Given the description of an element on the screen output the (x, y) to click on. 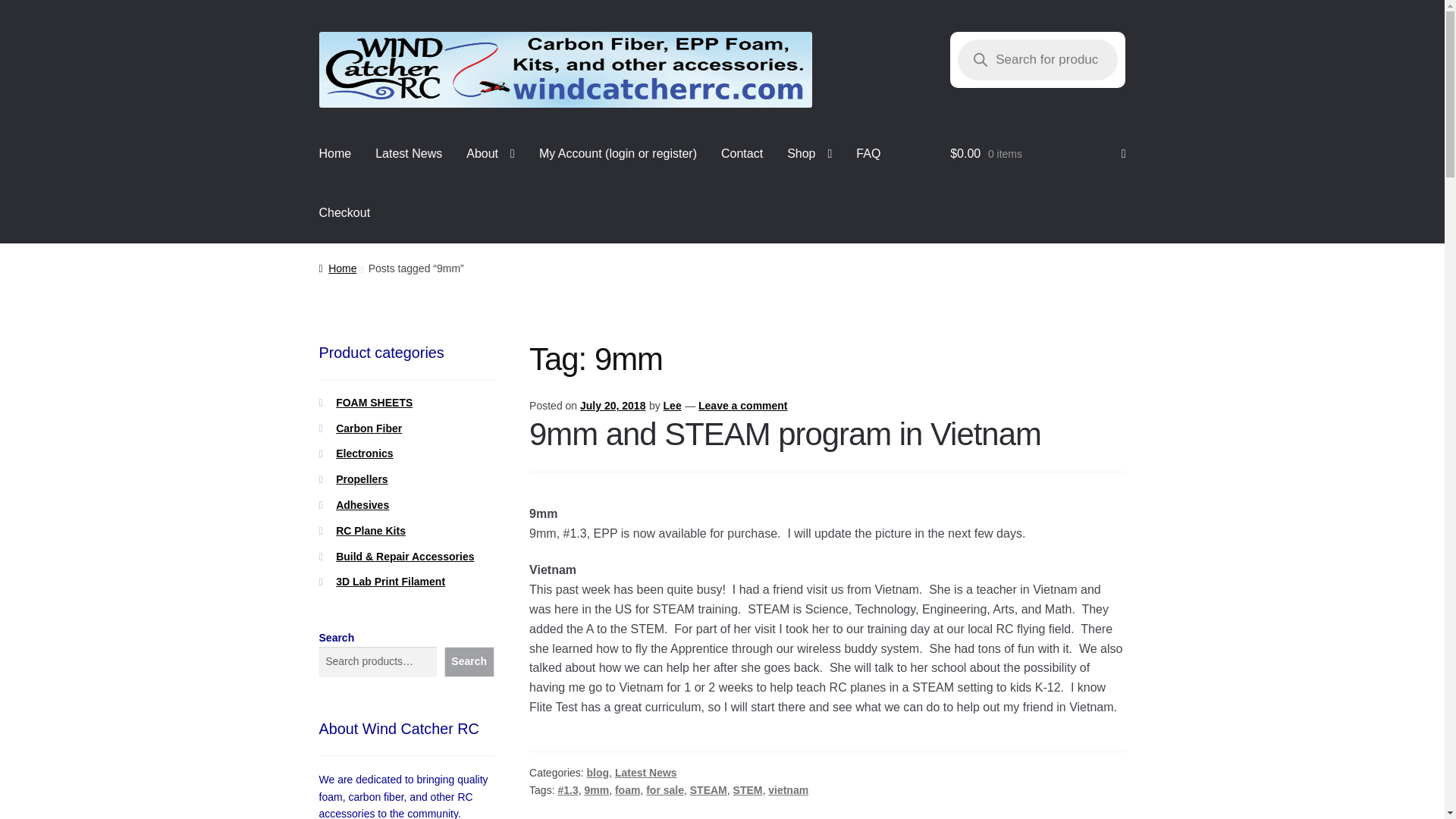
Contact (741, 154)
Home (335, 154)
View your shopping cart (1037, 154)
Latest News (408, 154)
About (490, 154)
Shop (809, 154)
